Given the description of an element on the screen output the (x, y) to click on. 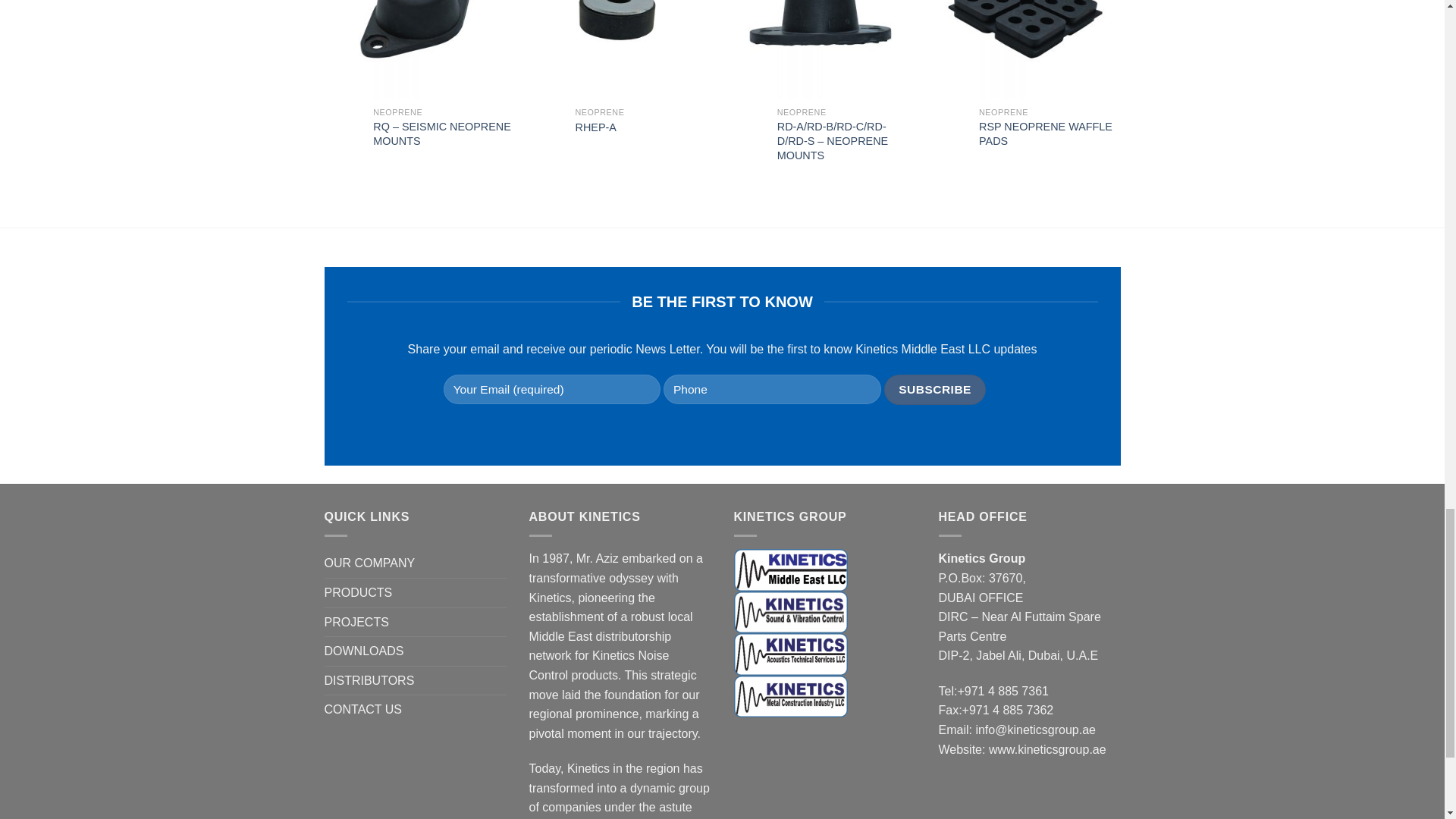
subscribe (935, 389)
